Given the description of an element on the screen output the (x, y) to click on. 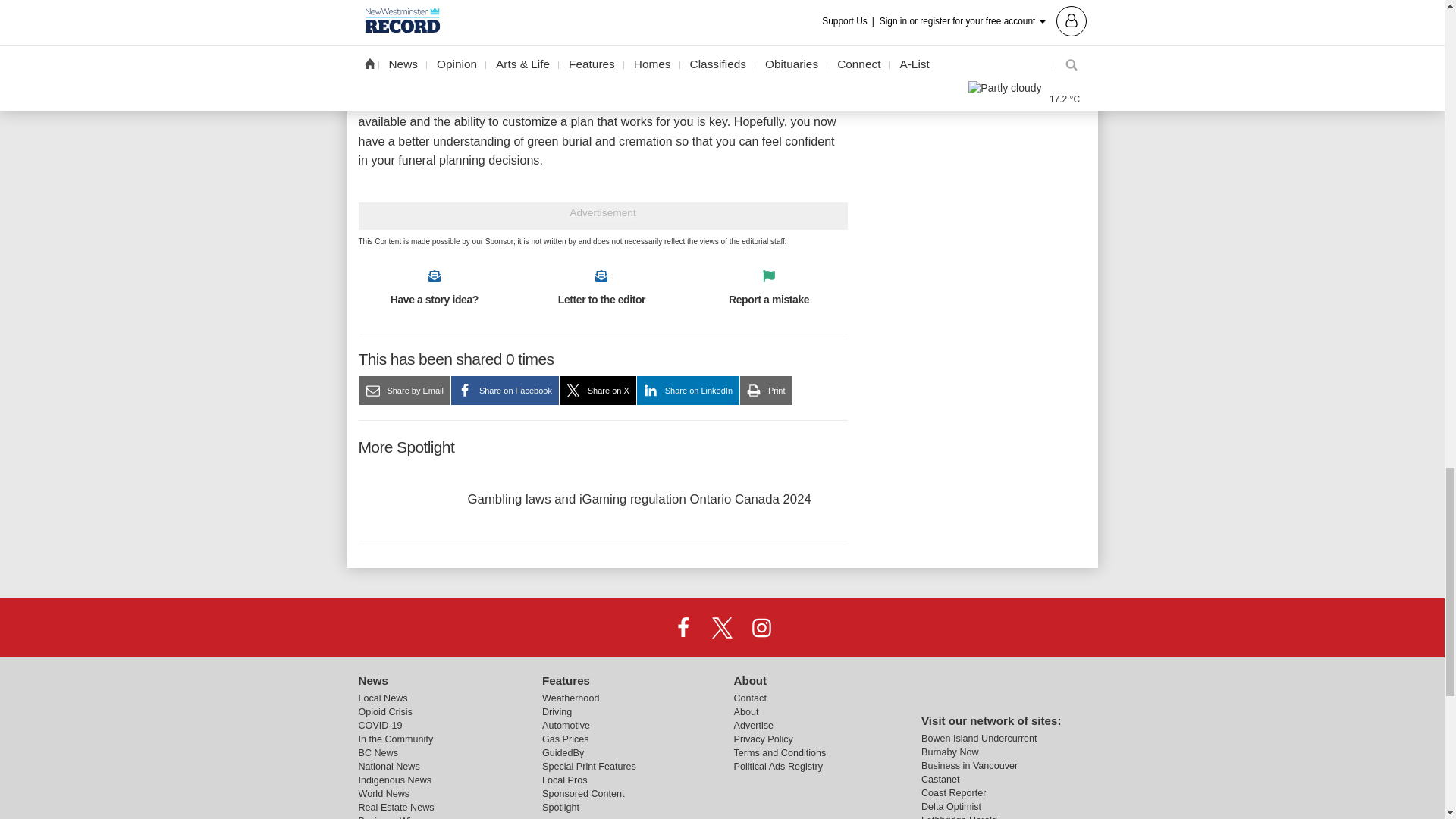
Facebook (683, 626)
Instagram (760, 626)
X (721, 626)
